Given the description of an element on the screen output the (x, y) to click on. 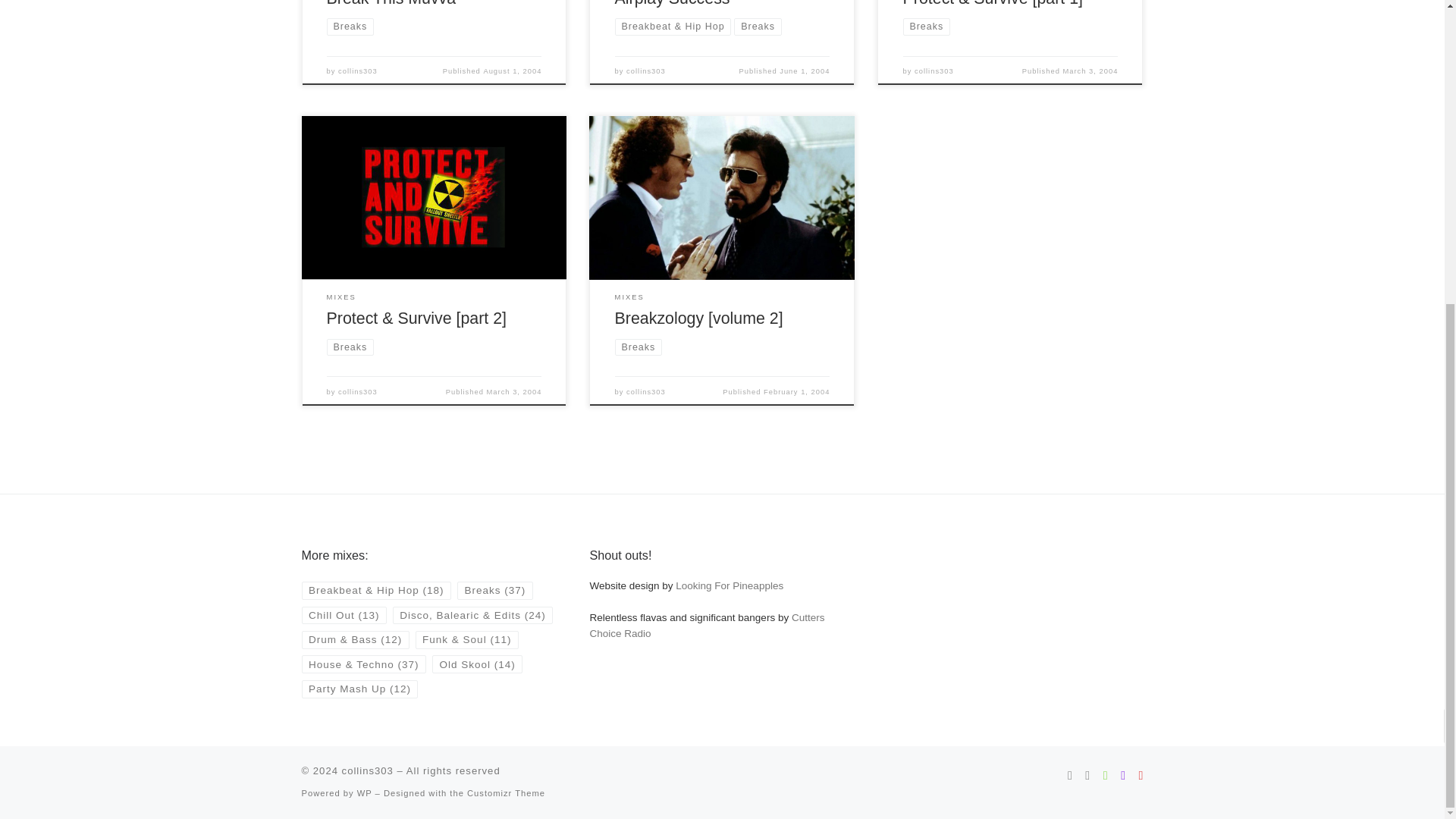
View all posts in Breaks (756, 26)
View all posts by collins303 (645, 71)
View all posts by collins303 (933, 71)
View all posts in Breaks (350, 26)
View all posts in Breaks (926, 26)
View all posts by collins303 (357, 71)
